Given the description of an element on the screen output the (x, y) to click on. 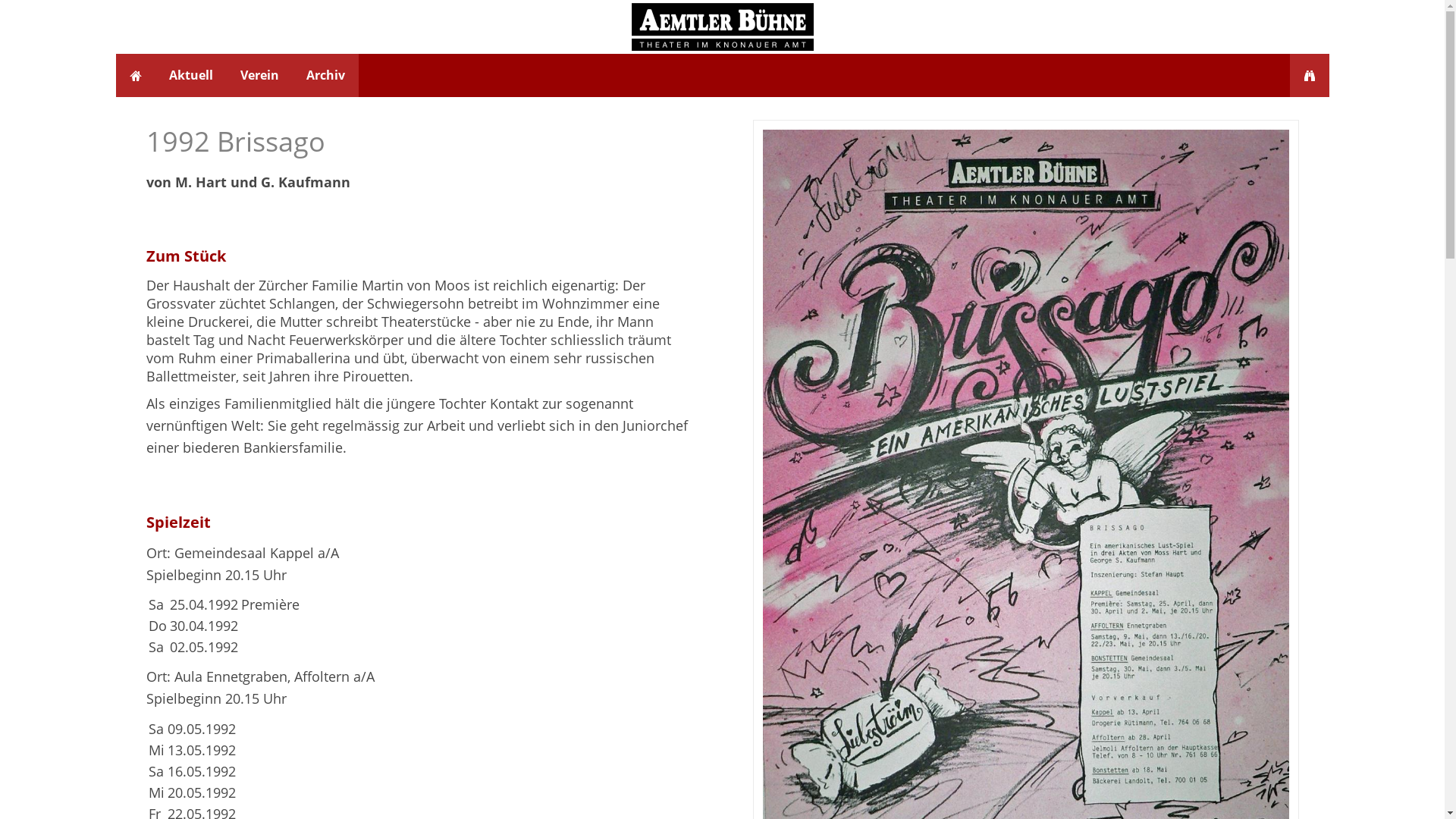
Verein Element type: text (258, 75)
Aktuell Element type: text (189, 75)
Archiv Element type: text (325, 75)
